Given the description of an element on the screen output the (x, y) to click on. 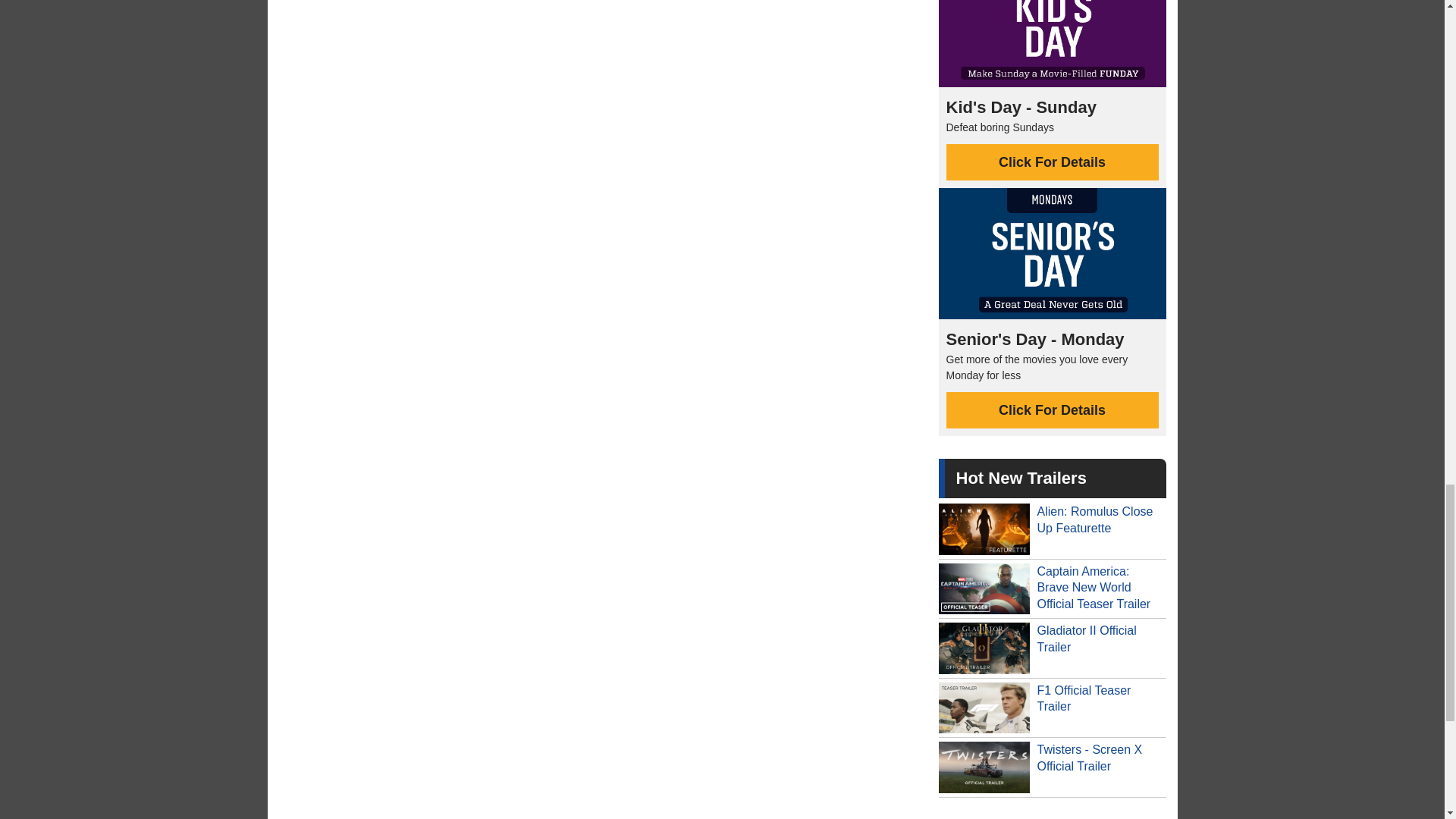
Twisters - Screen X Official Trailer (1052, 766)
F1 Official Teaser Trailer (1052, 707)
Click For Details (1052, 162)
Gladiator II Official Trailer (1052, 648)
Click For Details (1052, 410)
Alien: Romulus Close Up Featurette (1052, 528)
Captain America: Brave New World Official Teaser Trailer (1052, 589)
